Given the description of an element on the screen output the (x, y) to click on. 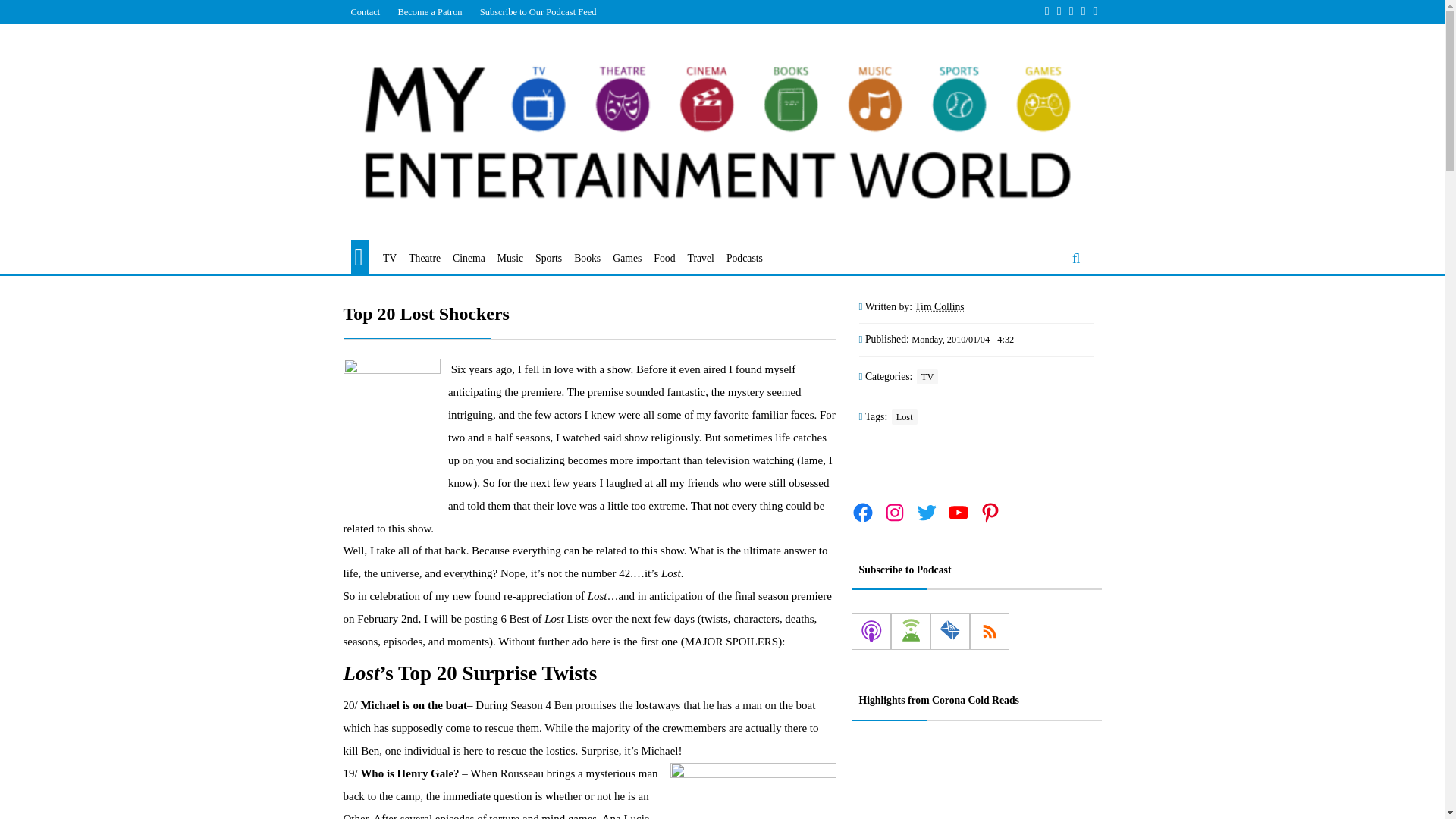
Subscribe on Apple Podcasts (869, 631)
Subscribe via RSS (989, 631)
Top 20 Lost Shockers (588, 314)
Sports (548, 258)
Subscribe by Email (949, 631)
Podcasts (744, 258)
Games (627, 258)
Cinema (468, 258)
Books (586, 258)
Travel (700, 258)
Become a Patron (429, 10)
Music (509, 258)
Food (664, 258)
CCR Shorts (964, 779)
Subscribe on Android (909, 631)
